Given the description of an element on the screen output the (x, y) to click on. 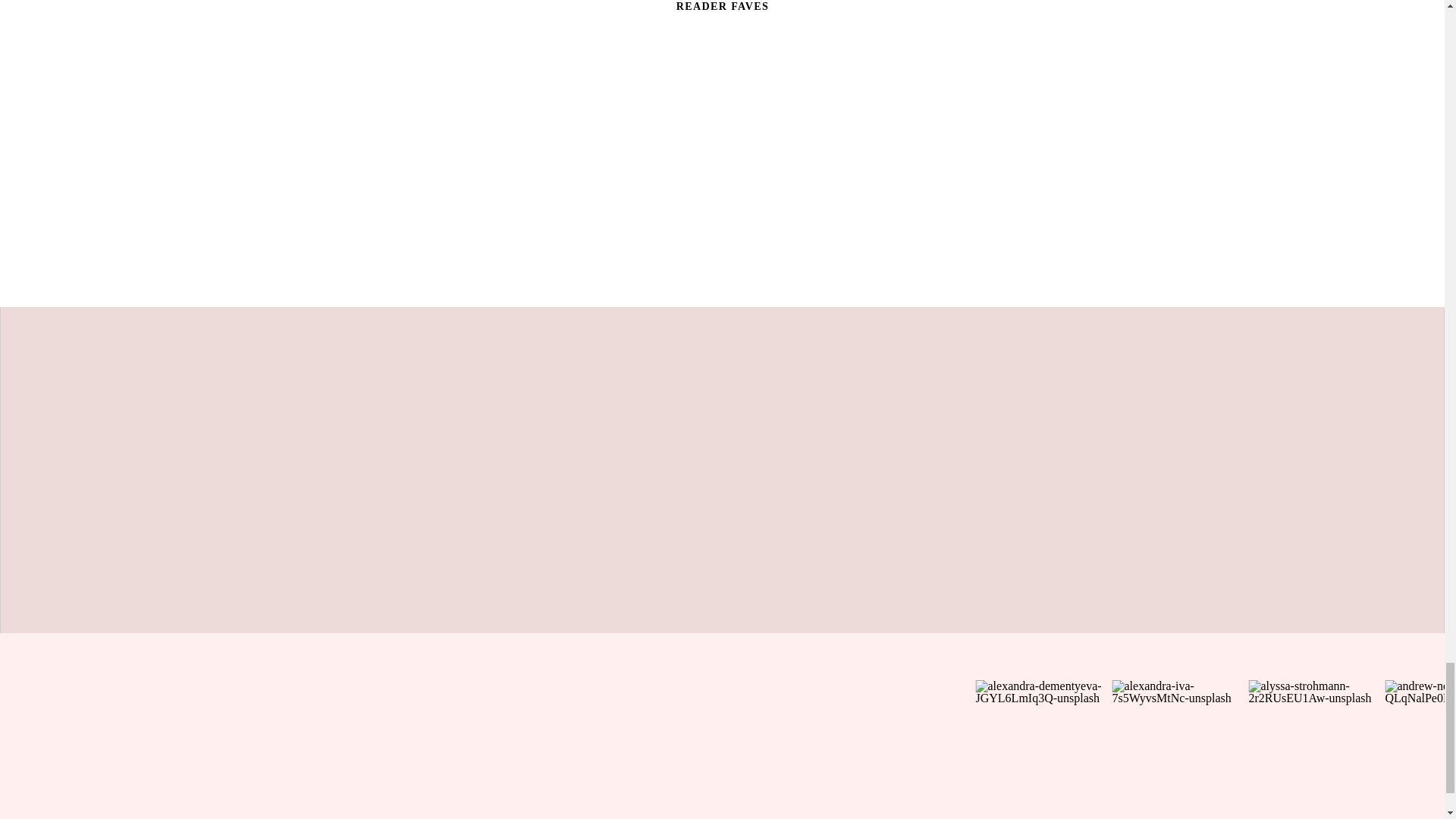
alexandra-iva-7s5WyvsMtNc-unsplash (1179, 748)
alyssa-strohmann-2r2RUsEU1Aw-unsplash (1315, 748)
alexandra-dementyeva-JGYL6LmIq3Q-unsplash (1043, 748)
